Given the description of an element on the screen output the (x, y) to click on. 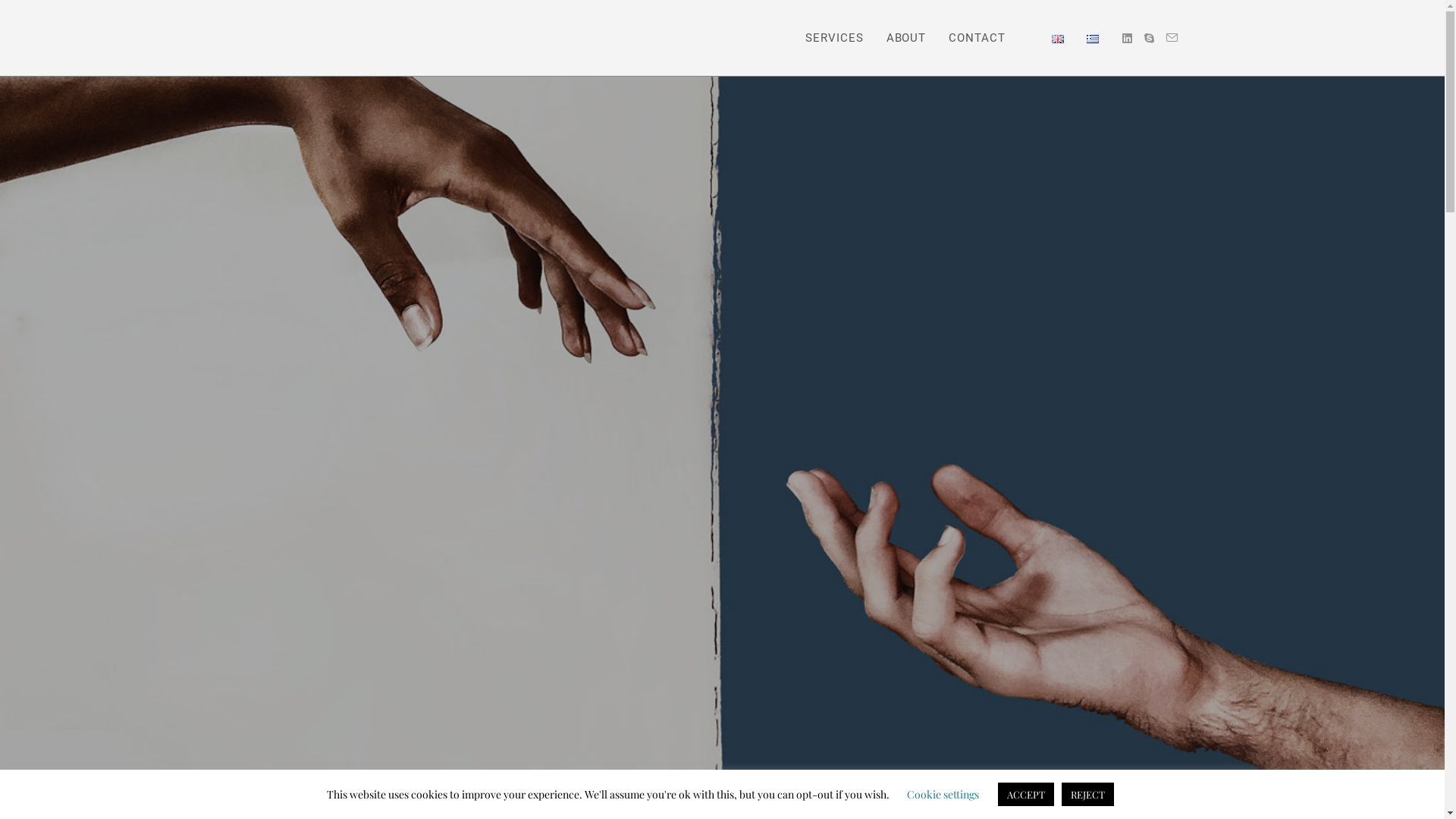
SERVICES Element type: text (833, 37)
REJECT Element type: text (1087, 794)
Cookie settings Element type: text (942, 794)
ACCEPT Element type: text (1025, 794)
ABOUT Element type: text (906, 37)
CONTACT Element type: text (976, 37)
